Given the description of an element on the screen output the (x, y) to click on. 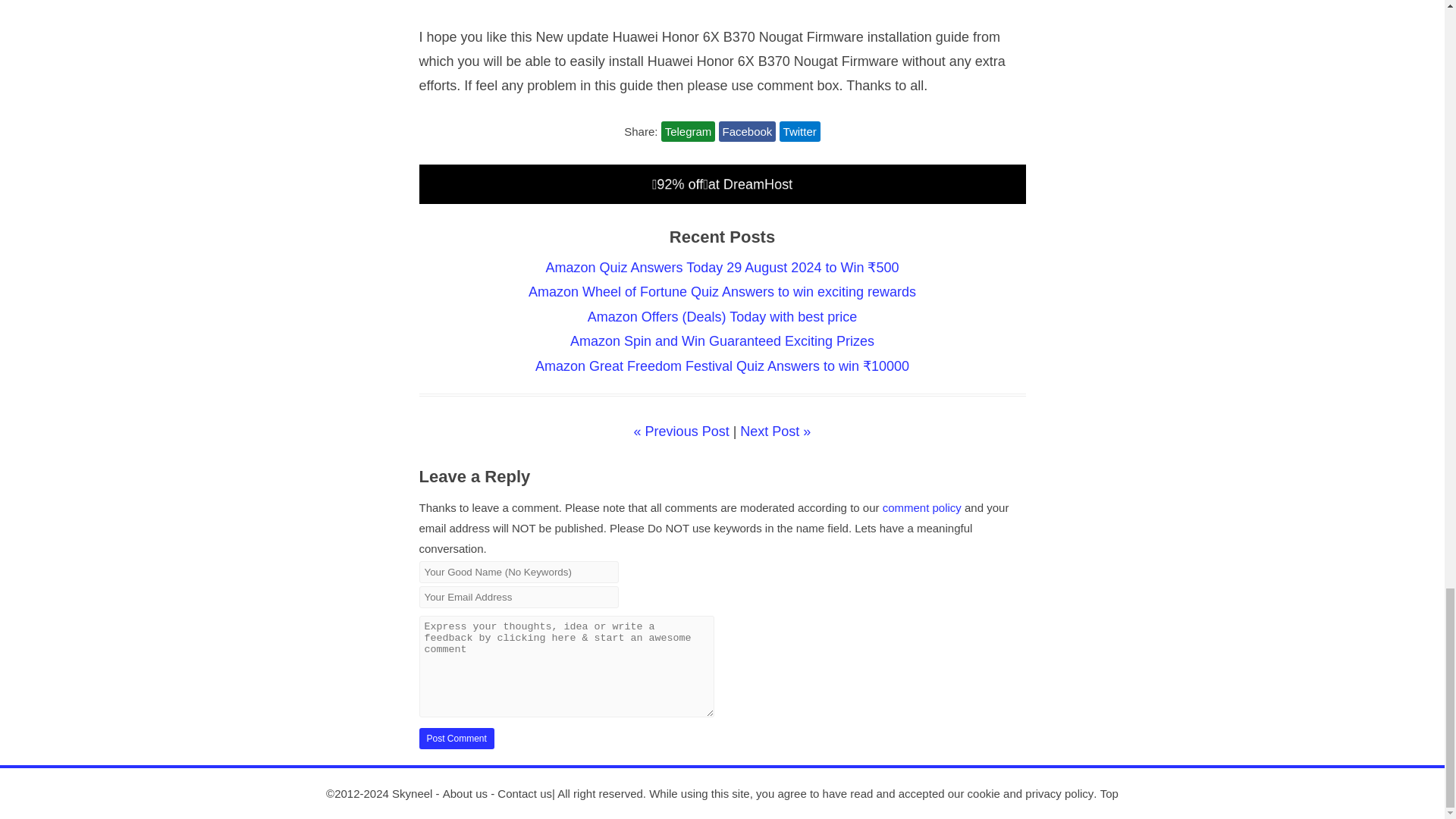
Twitter (799, 131)
comment policy (921, 507)
Share on Facebook (747, 131)
Amazon Wheel of Fortune Quiz Answers to win exciting rewards (721, 291)
Amazon Spin and Win Guaranteed Exciting Prizes (722, 340)
Telegram (688, 131)
Facebook (747, 131)
Post Comment (456, 738)
Share on Telegram (688, 131)
Tweet on Twitter (799, 131)
